Given the description of an element on the screen output the (x, y) to click on. 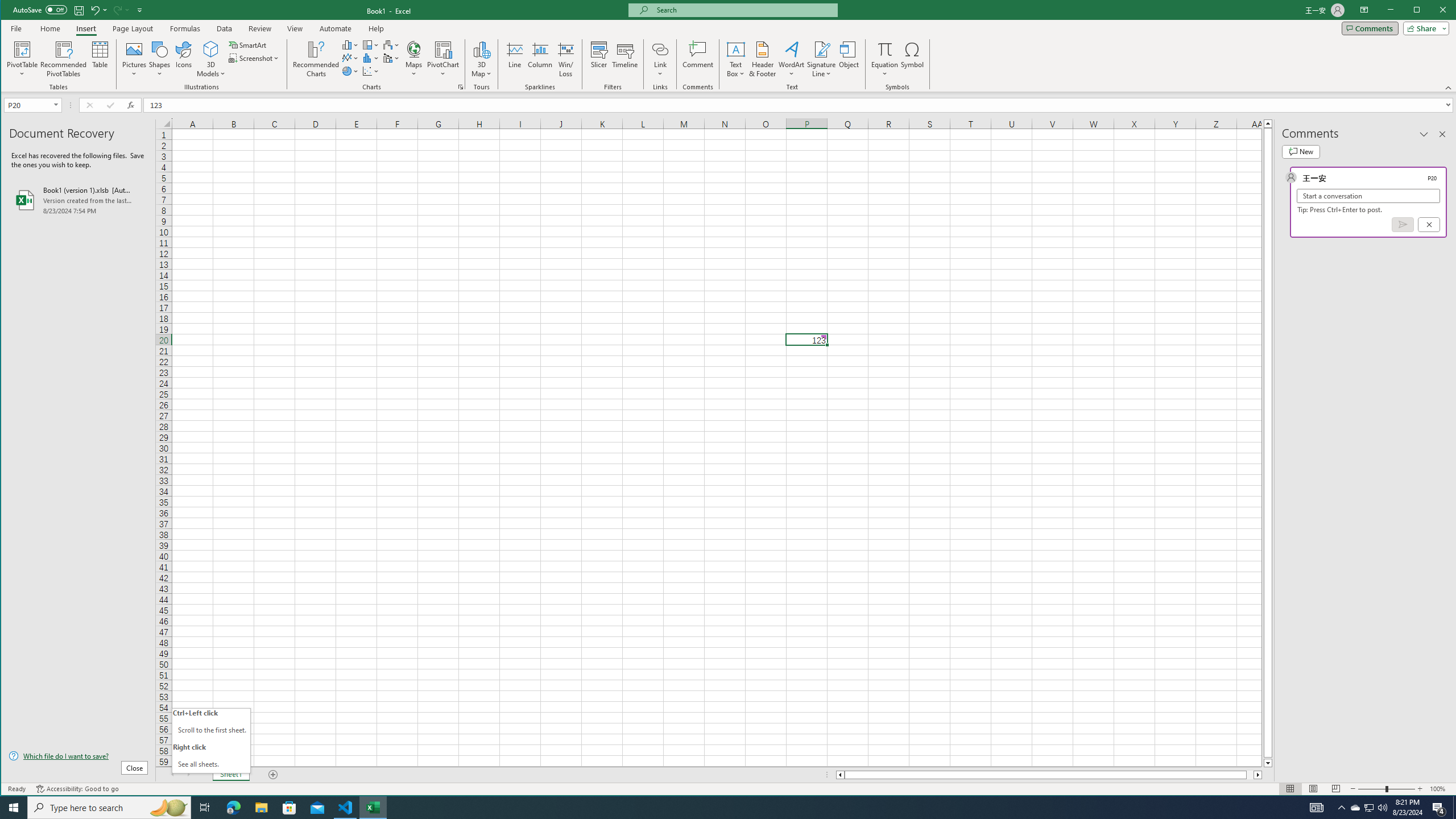
Maximize (1432, 11)
Signature Line (821, 48)
Zoom (1386, 788)
Close pane (1441, 133)
Link (659, 48)
Insert Line or Area Chart (350, 57)
Sheet1 (230, 774)
Scroll Right (188, 774)
Home (50, 28)
AutoSave (39, 9)
File Explorer (261, 807)
Draw Horizontal Text Box (735, 48)
Customize Quick Access Toolbar (140, 9)
